Given the description of an element on the screen output the (x, y) to click on. 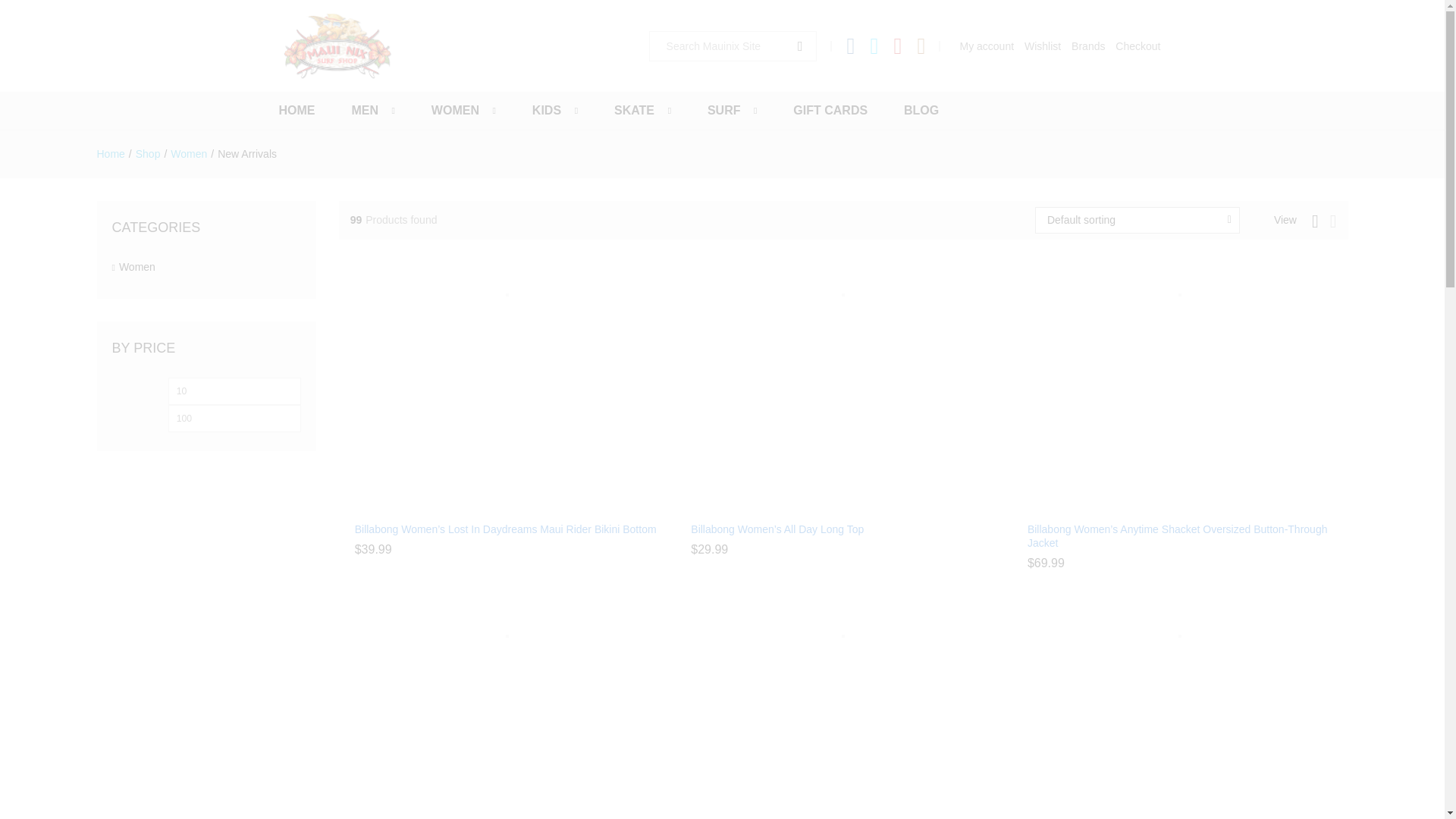
My account (986, 46)
Search (796, 46)
10 (234, 390)
Maui Nix Surf Shop (337, 45)
Checkout (1137, 46)
Brands (1088, 46)
Wishlist (1043, 46)
HOME (297, 110)
MEN (364, 110)
Search (796, 46)
